Given the description of an element on the screen output the (x, y) to click on. 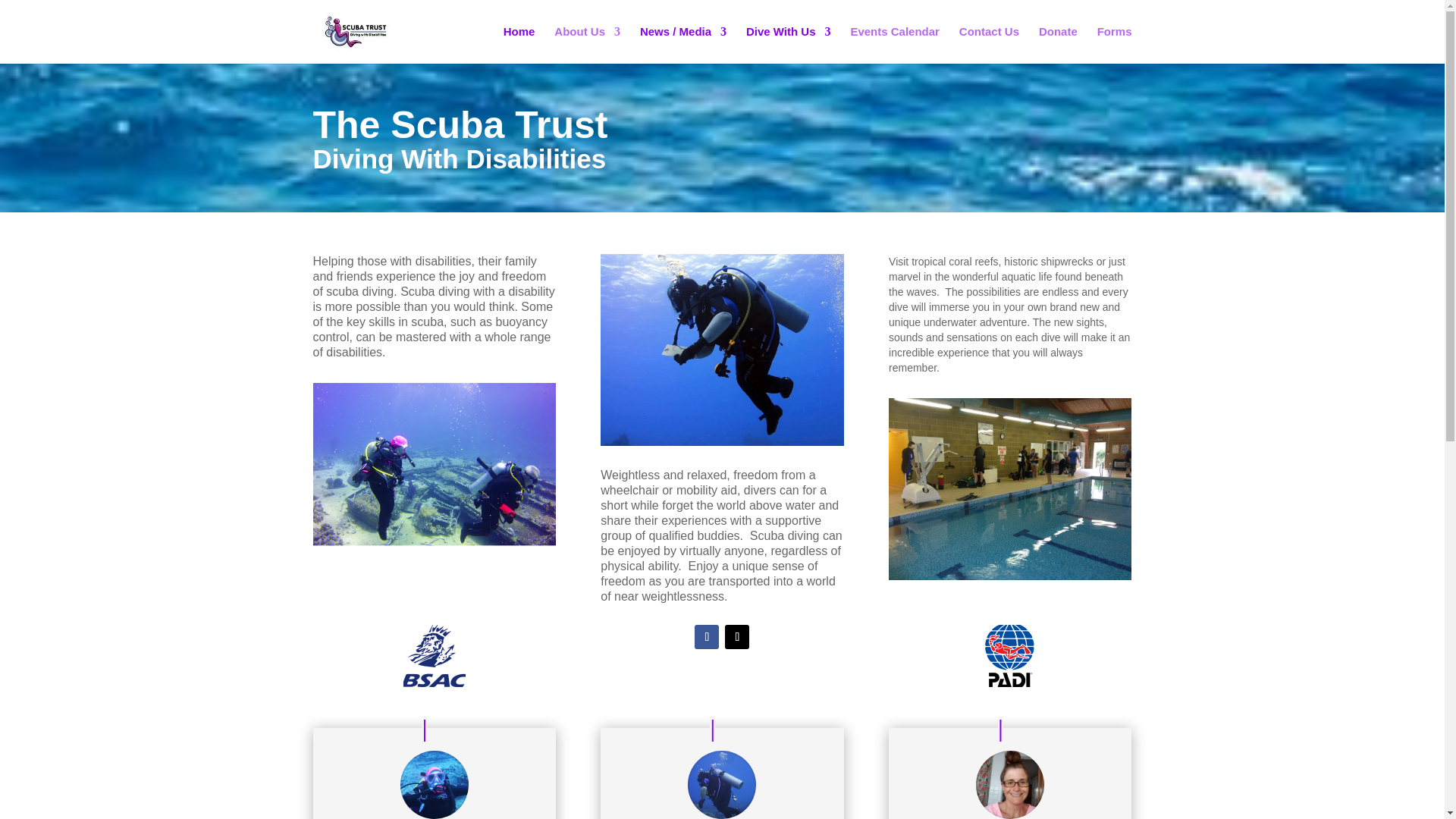
Forms (1114, 44)
Follow on X (737, 636)
Donate (1058, 44)
BSAC-LOGO (434, 655)
Dive With Us (788, 44)
Events Calendar (894, 44)
Follow on Facebook (706, 636)
About Us (587, 44)
Contact Us (989, 44)
